Given the description of an element on the screen output the (x, y) to click on. 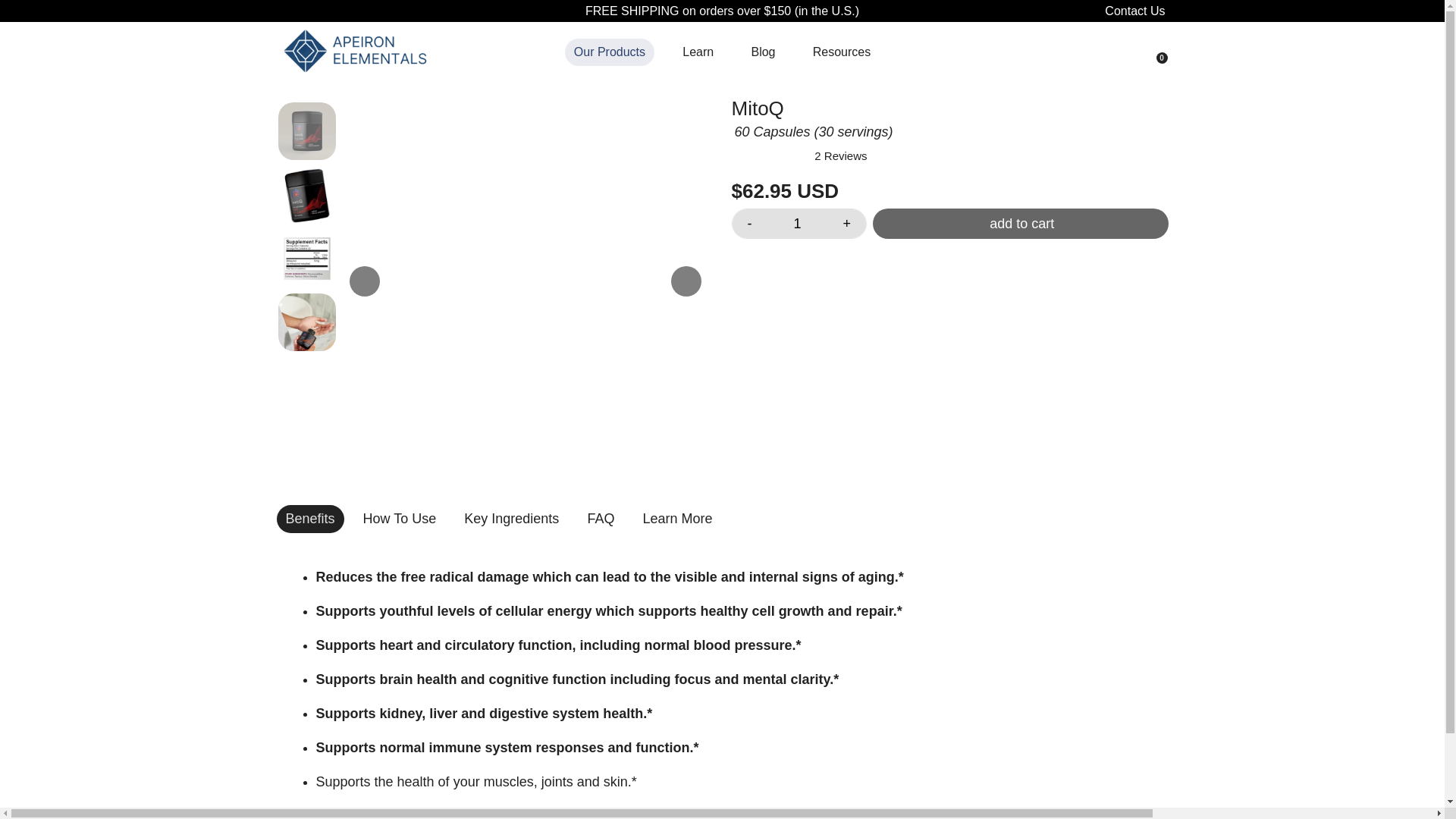
Contact Us (1134, 10)
Our Products (610, 52)
1 (797, 223)
Blog (762, 52)
Resources (841, 52)
Learn (697, 52)
